Given the description of an element on the screen output the (x, y) to click on. 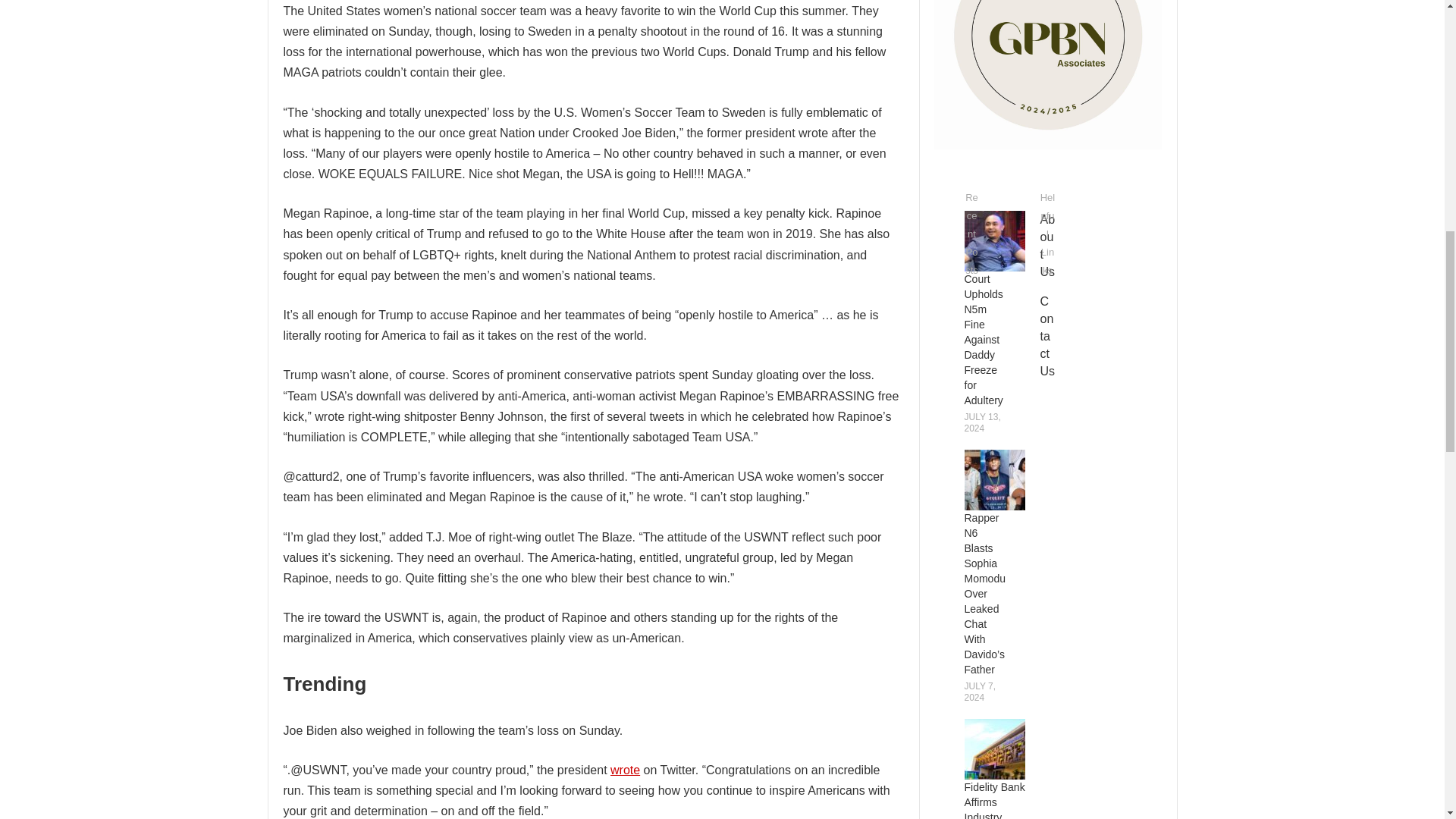
wrote (625, 769)
